Given the description of an element on the screen output the (x, y) to click on. 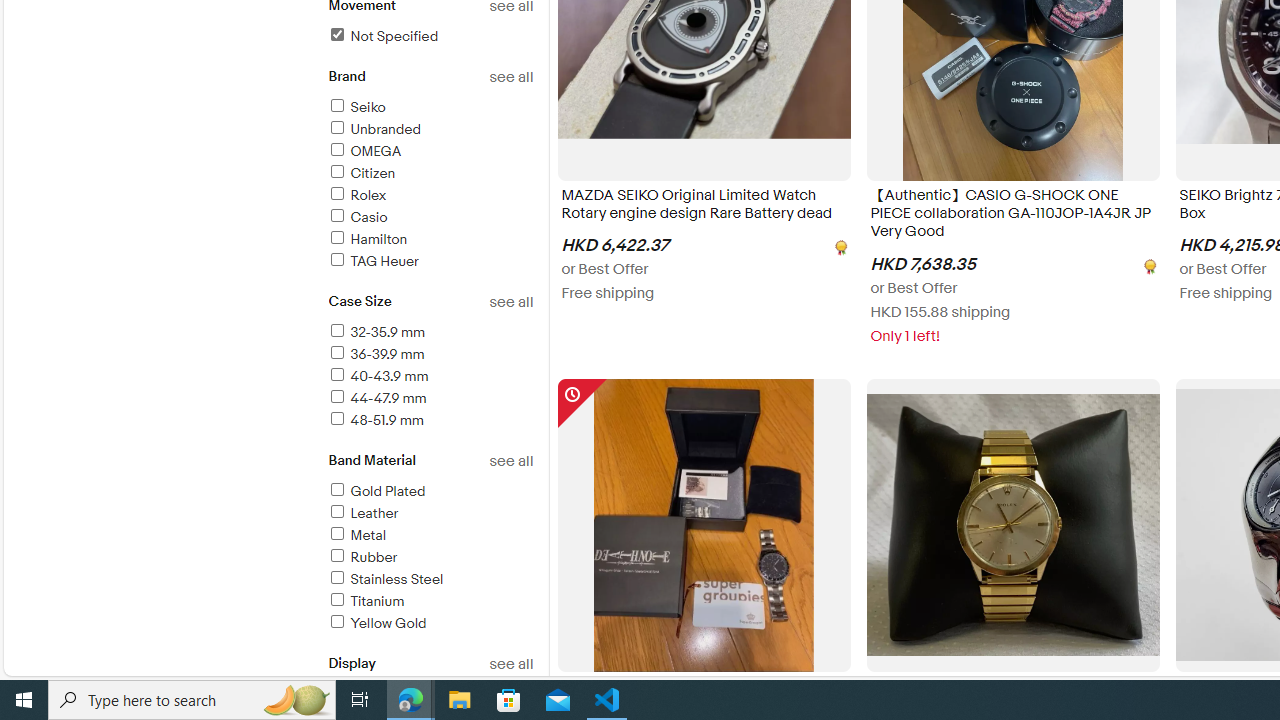
32-35.9 mm (376, 332)
Leather (430, 514)
Casio (430, 218)
Rolex (356, 195)
OMEGA (363, 151)
44-47.9 mm (430, 399)
Yellow Gold (376, 623)
32-35.9 mm (430, 333)
Stainless Steel (430, 579)
Seiko (356, 107)
Rolex (430, 196)
40-43.9 mm (377, 376)
36-39.9 mm (375, 354)
